Given the description of an element on the screen output the (x, y) to click on. 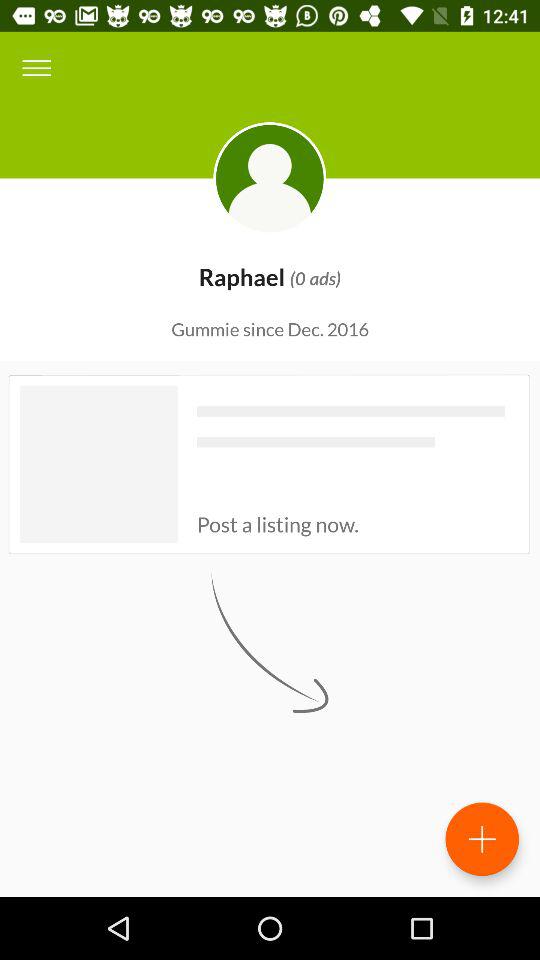
tap item at the top left corner (36, 68)
